Given the description of an element on the screen output the (x, y) to click on. 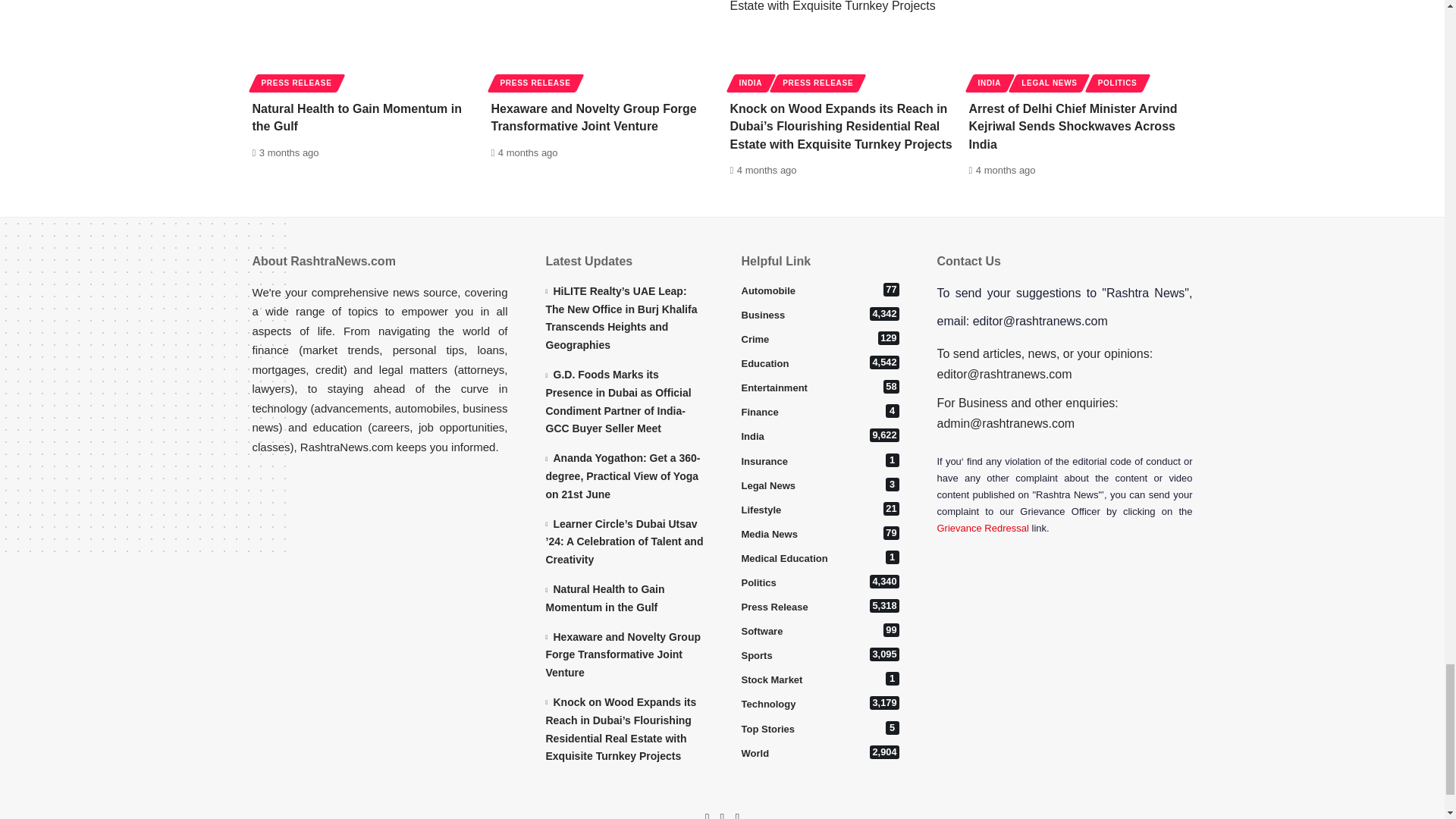
Natural Health to Gain Momentum in the Gulf (363, 43)
